Given the description of an element on the screen output the (x, y) to click on. 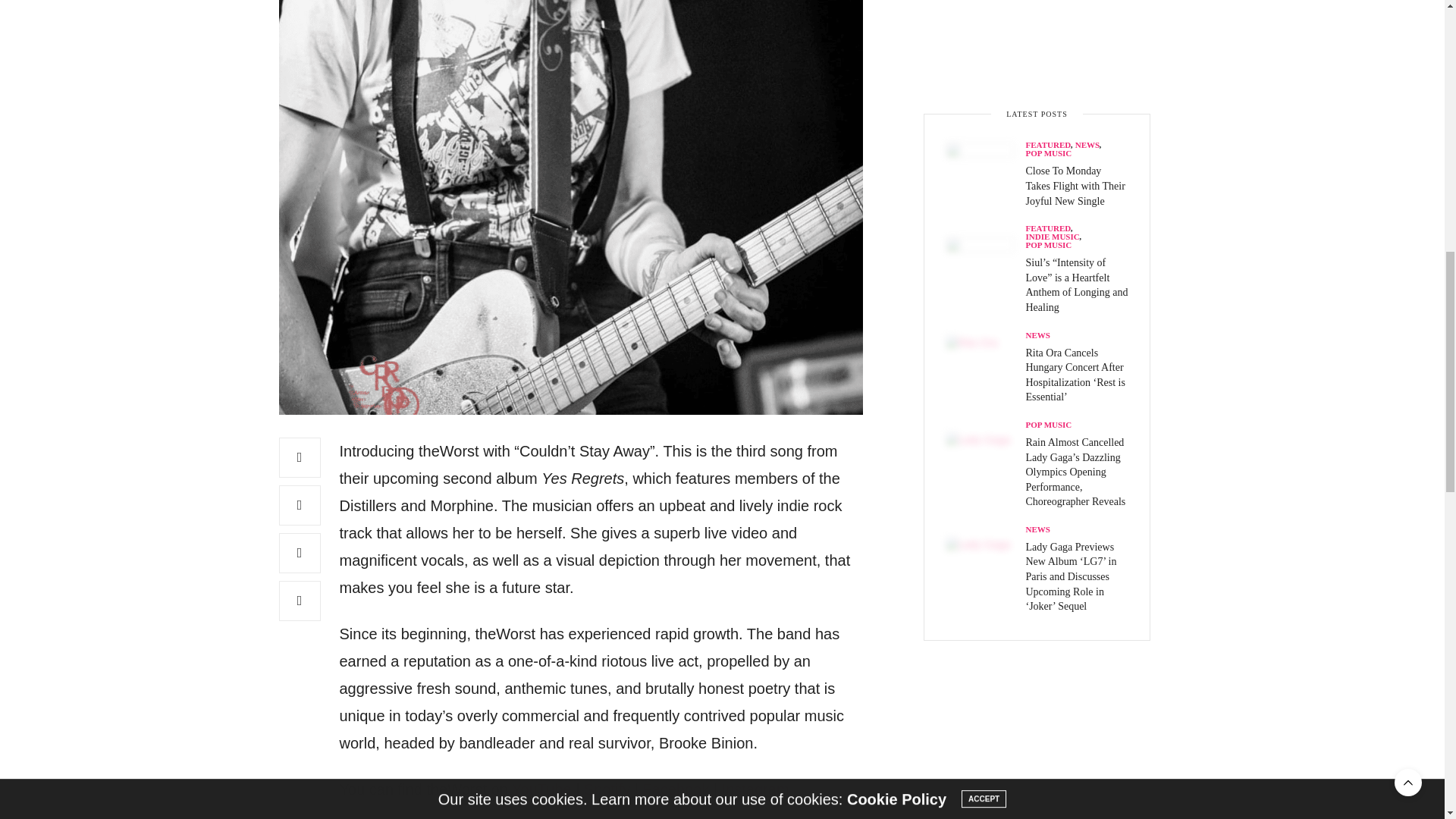
Spotify (606, 789)
YouTube (542, 789)
Instagram (755, 789)
Facebook (675, 789)
